Given the description of an element on the screen output the (x, y) to click on. 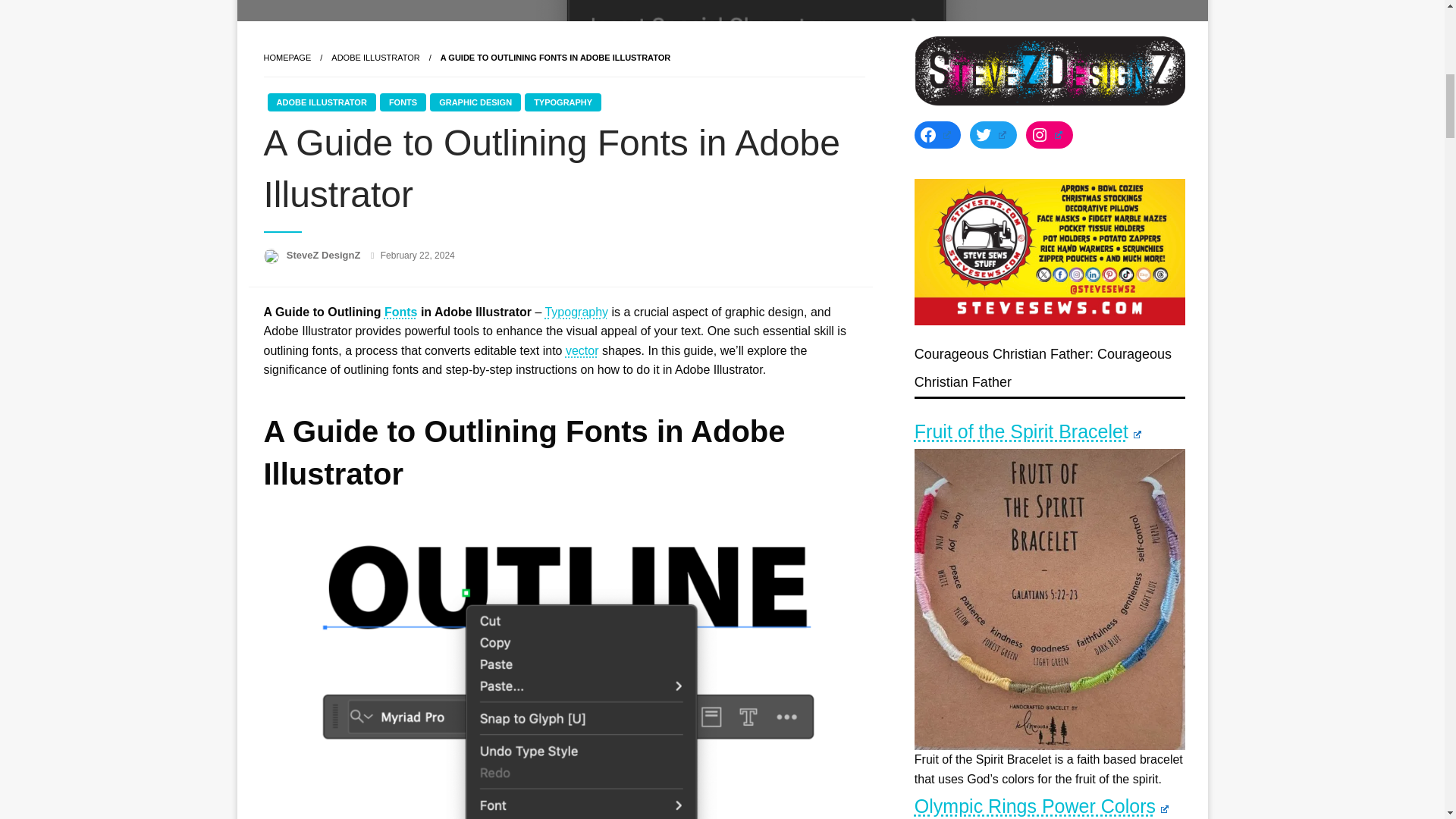
vector (582, 350)
Fonts (400, 311)
TYPOGRAPHY (562, 102)
SteveZ DesignZ (324, 255)
FONTS (403, 102)
Font (400, 311)
ADOBE ILLUSTRATOR (320, 102)
SteveZ DesignZ (324, 255)
Typography (576, 311)
February 22, 2024 (417, 255)
A Guide to Outlining Fonts in Adobe Illustrator (556, 57)
Adobe Illustrator (375, 57)
Typography (576, 311)
HOMEPAGE (287, 57)
Vector (582, 350)
